Given the description of an element on the screen output the (x, y) to click on. 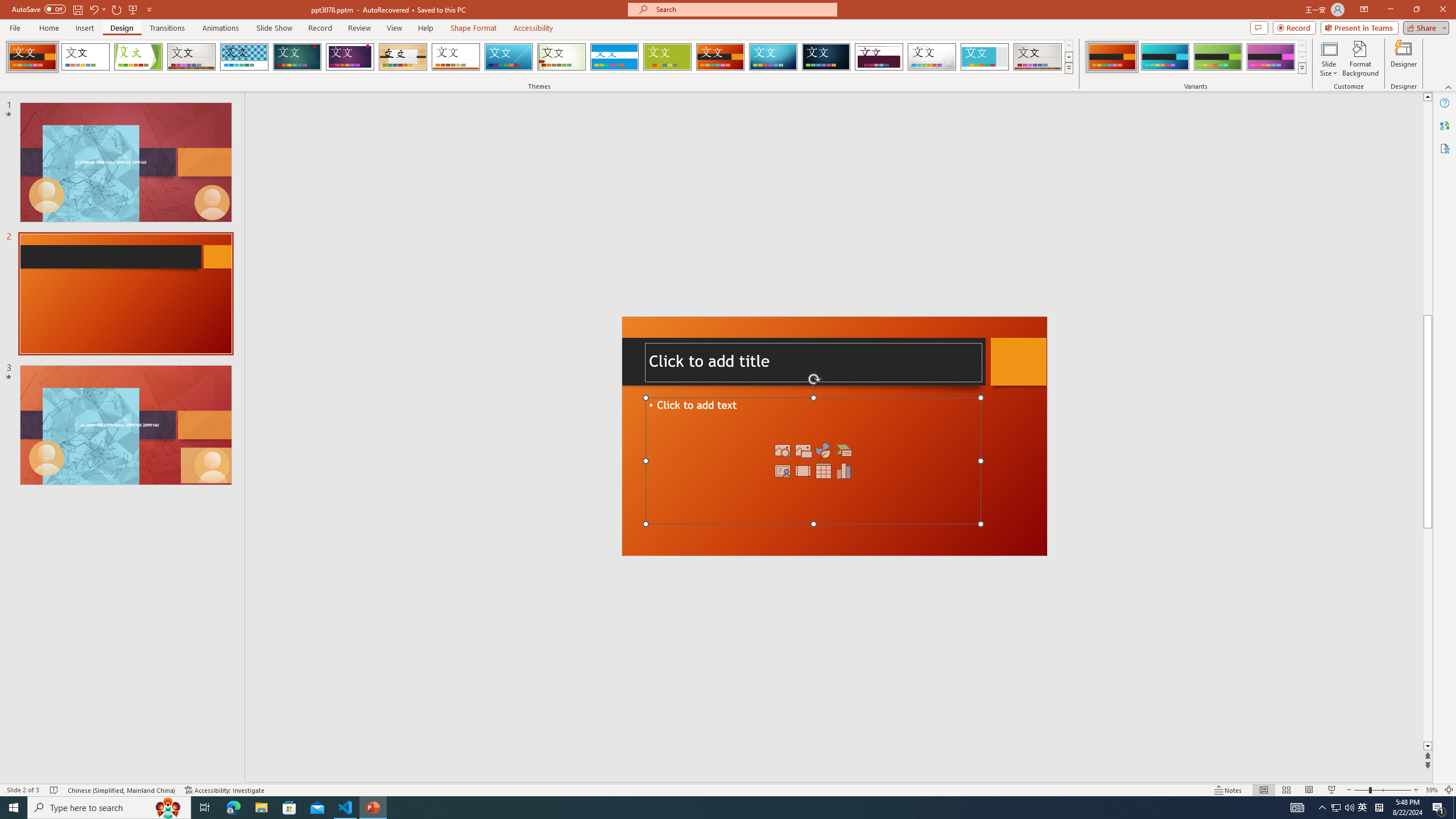
Berlin Variant 4 (1270, 56)
Page up (1427, 207)
Slide Size (1328, 58)
